Given the description of an element on the screen output the (x, y) to click on. 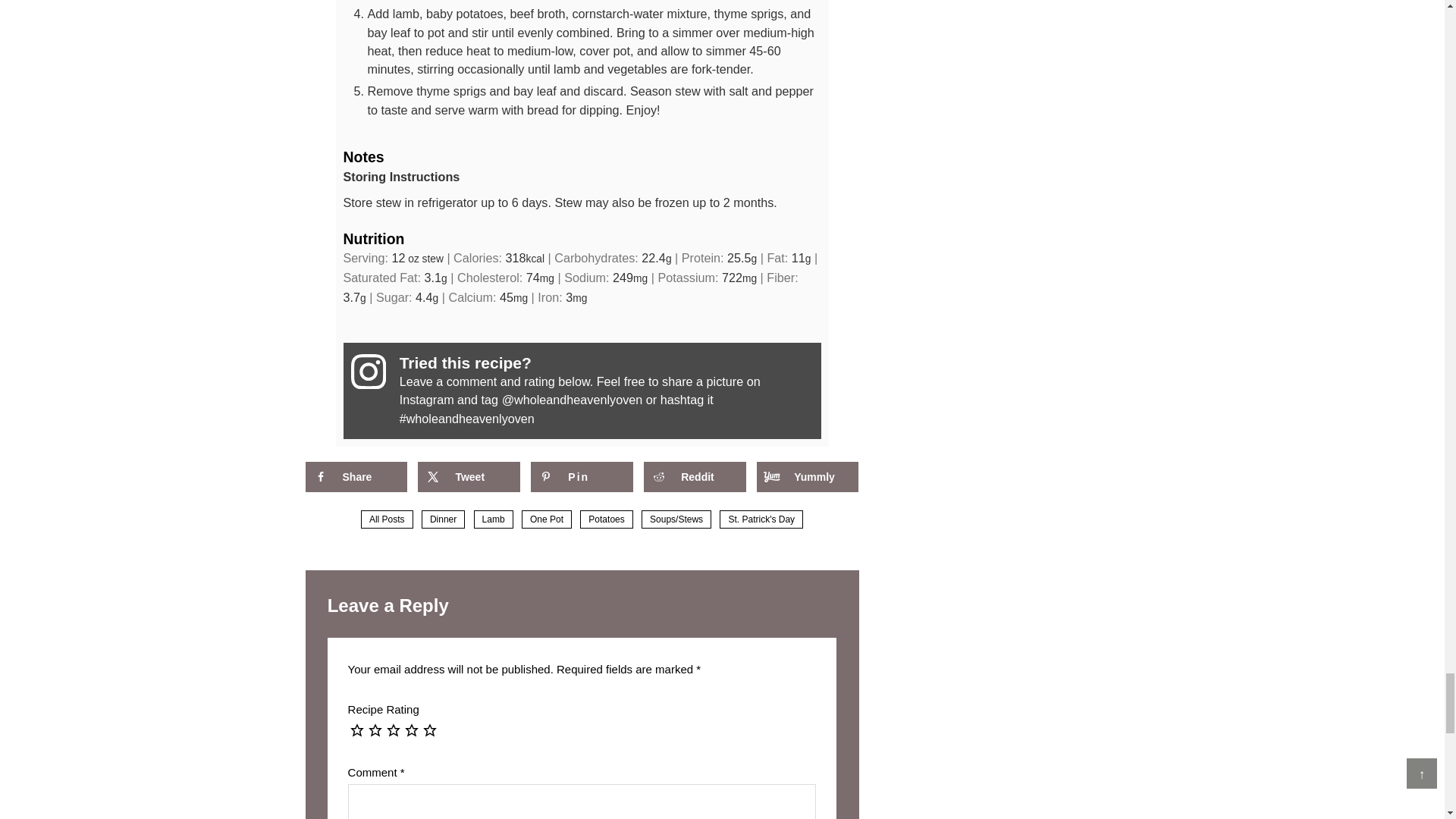
Share on Reddit (694, 476)
Share on Facebook (355, 476)
Save to Pinterest (581, 476)
Share on X (468, 476)
Share on Yummly (808, 476)
